Given the description of an element on the screen output the (x, y) to click on. 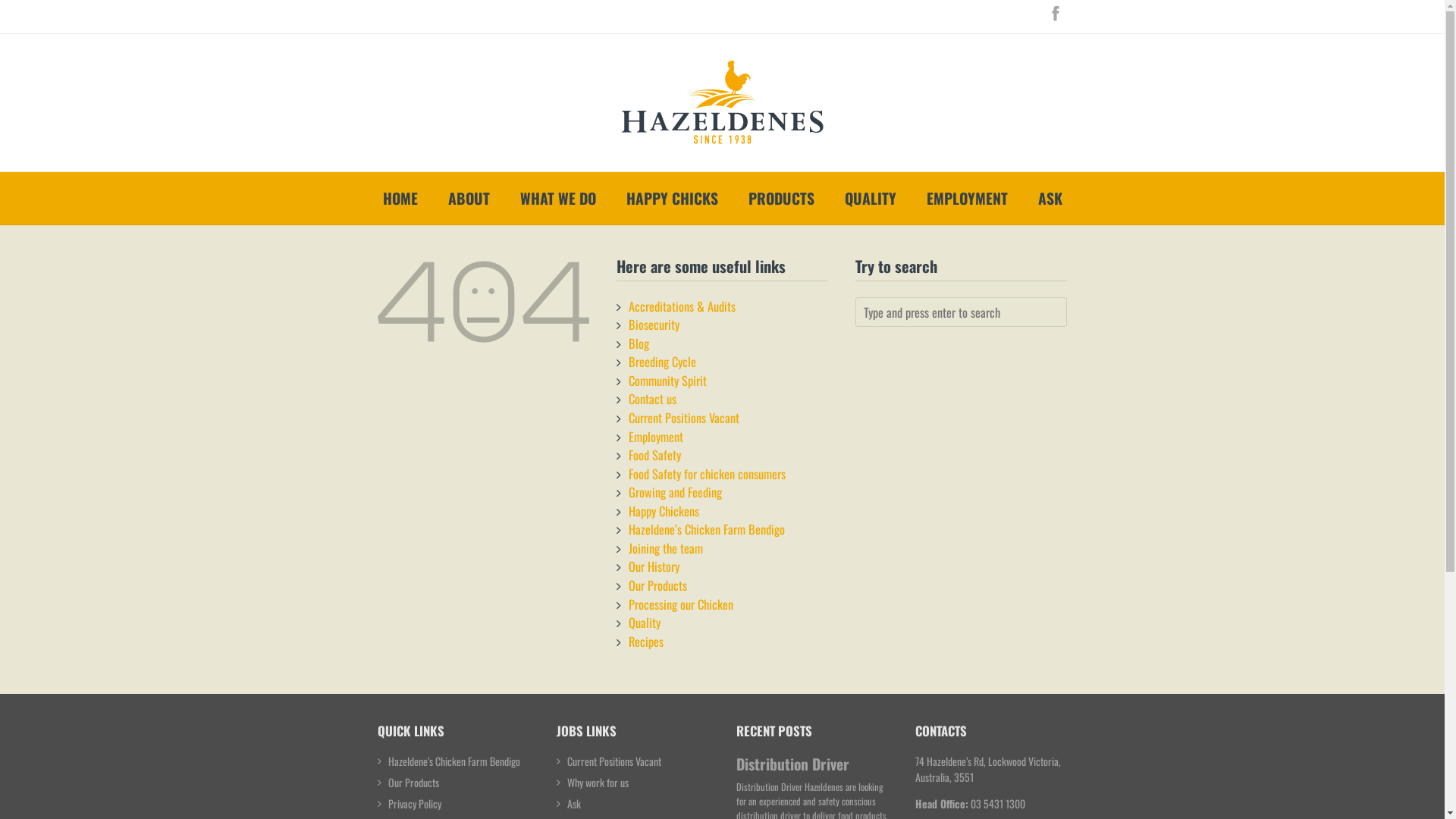
Breeding Cycle Element type: text (662, 360)
Quality Element type: text (644, 621)
Ask Element type: text (573, 803)
Contact us Element type: text (652, 398)
ABOUT Element type: text (468, 198)
Facebook Element type: hover (1055, 12)
Current Positions Vacant Element type: text (683, 416)
Processing our Chicken Element type: text (680, 603)
Food Safety Element type: text (654, 454)
Blog Element type: text (638, 342)
Our History Element type: text (653, 565)
Our Products Element type: text (413, 782)
Biosecurity Element type: text (653, 323)
Happy Chickens Element type: text (663, 510)
Why work for us Element type: text (597, 782)
QUALITY Element type: text (870, 198)
EMPLOYMENT Element type: text (966, 198)
HAPPY CHICKS Element type: text (672, 198)
Accreditations & Audits Element type: text (681, 305)
Recipes Element type: text (645, 640)
Privacy Policy Element type: text (414, 803)
ASK Element type: text (1049, 198)
PRODUCTS Element type: text (780, 198)
WHAT WE DO Element type: text (558, 198)
Employment Element type: text (655, 435)
Current Positions Vacant Element type: text (614, 760)
Joining the team Element type: text (665, 547)
Growing and Feeding Element type: text (674, 491)
Community Spirit Element type: text (667, 379)
HOME Element type: text (399, 198)
Our Products Element type: text (657, 584)
Distribution Driver Element type: text (792, 764)
Food Safety for chicken consumers Element type: text (706, 473)
